Given the description of an element on the screen output the (x, y) to click on. 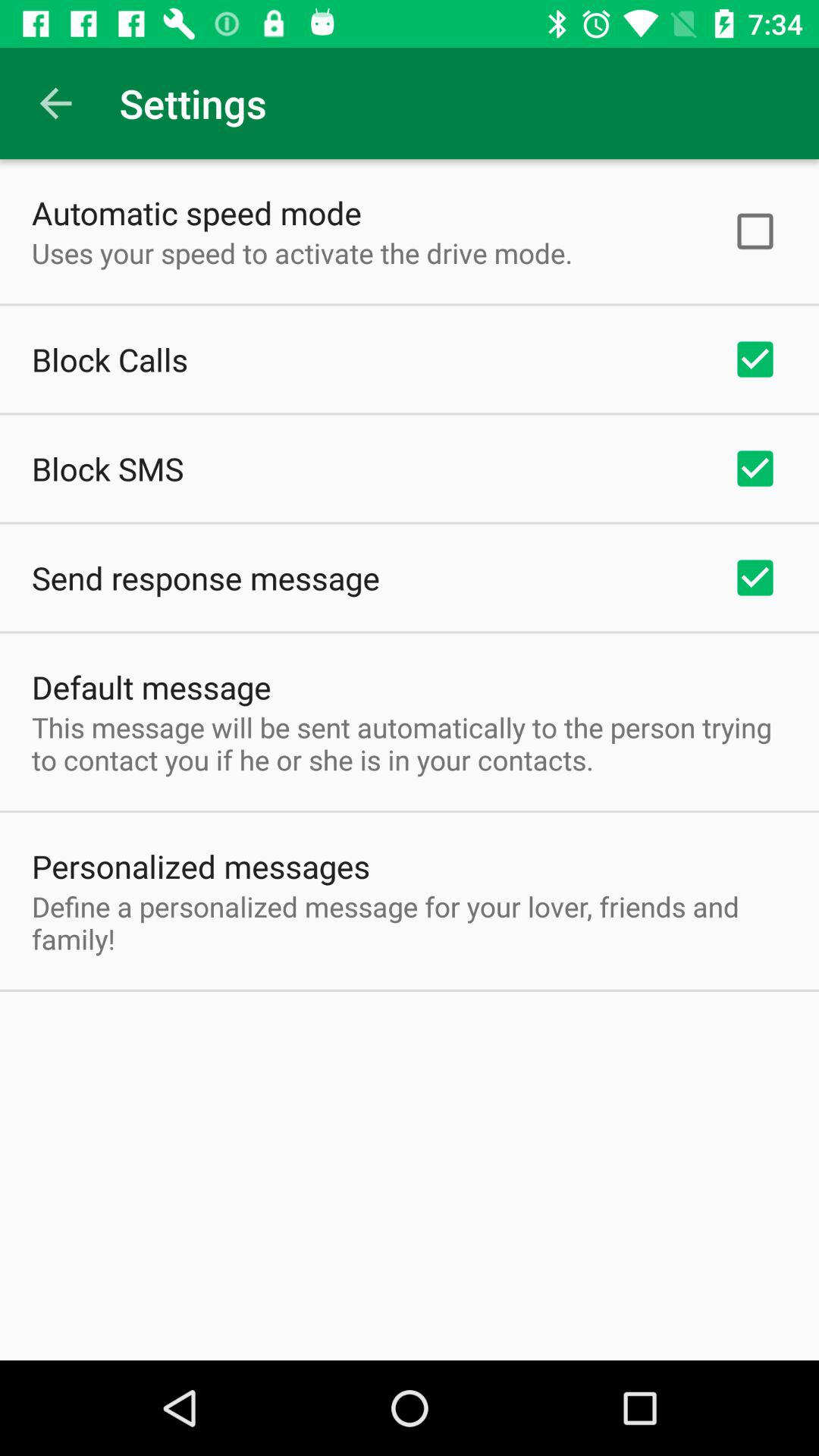
flip to send response message (205, 577)
